Given the description of an element on the screen output the (x, y) to click on. 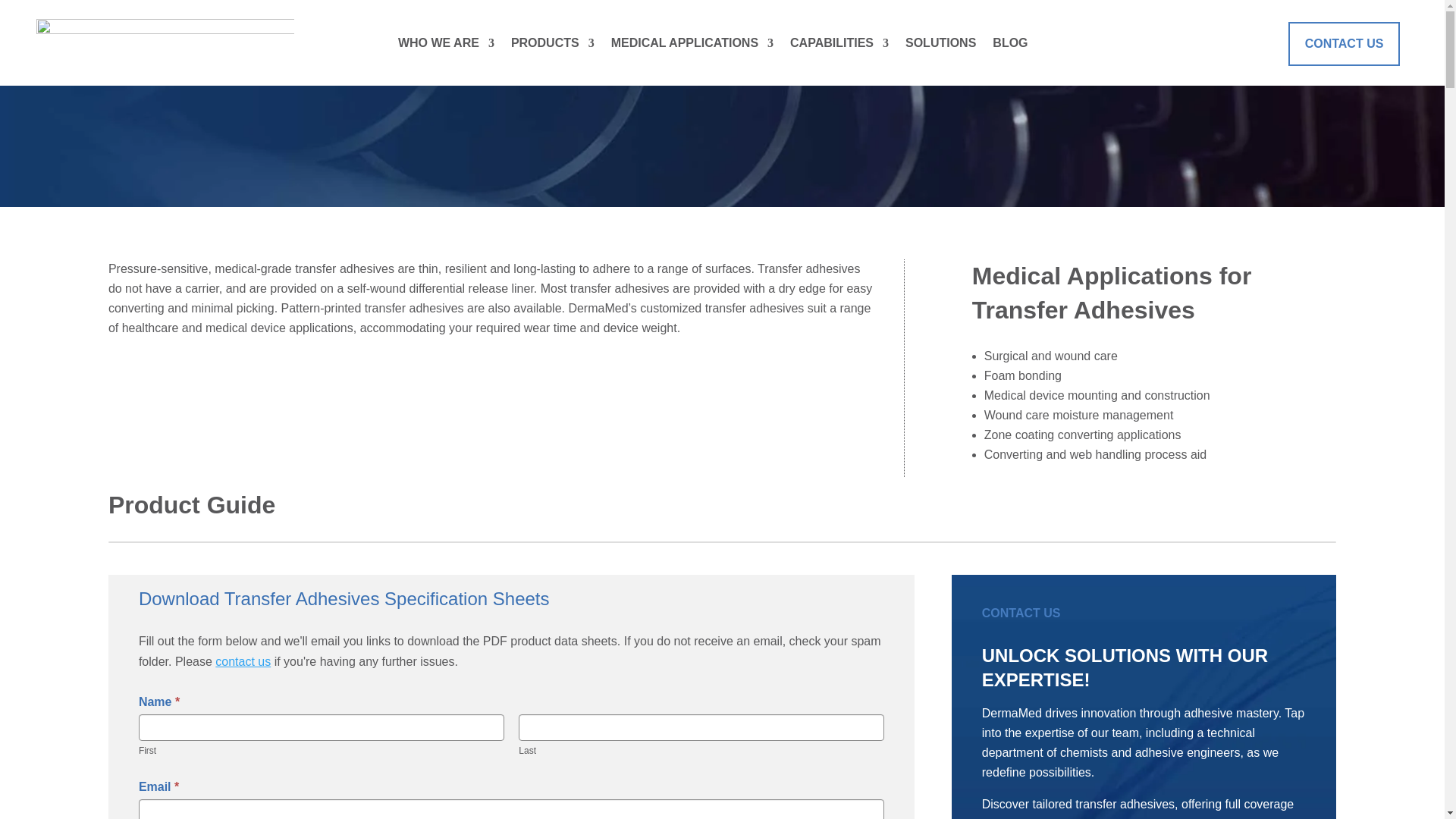
WHO WE ARE (446, 45)
CAPABILITIES (839, 45)
MEDICAL APPLICATIONS (692, 45)
BLOG (1009, 45)
contact us (242, 661)
PRODUCTS (552, 45)
SOLUTIONS (940, 45)
CONTACT US (1344, 44)
